Given the description of an element on the screen output the (x, y) to click on. 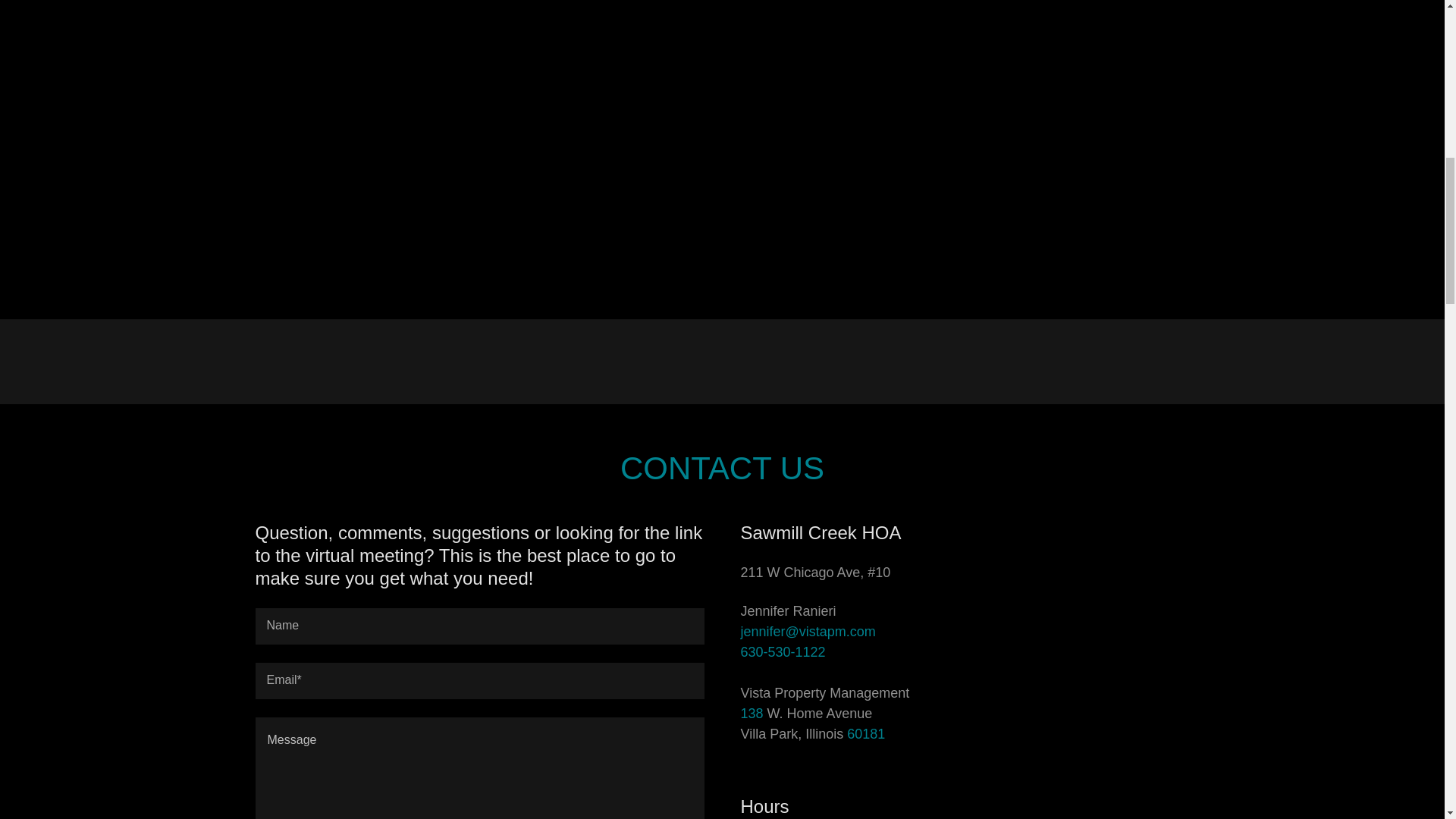
138 (750, 713)
60181 (866, 734)
630-530-1122 (782, 652)
